Given the description of an element on the screen output the (x, y) to click on. 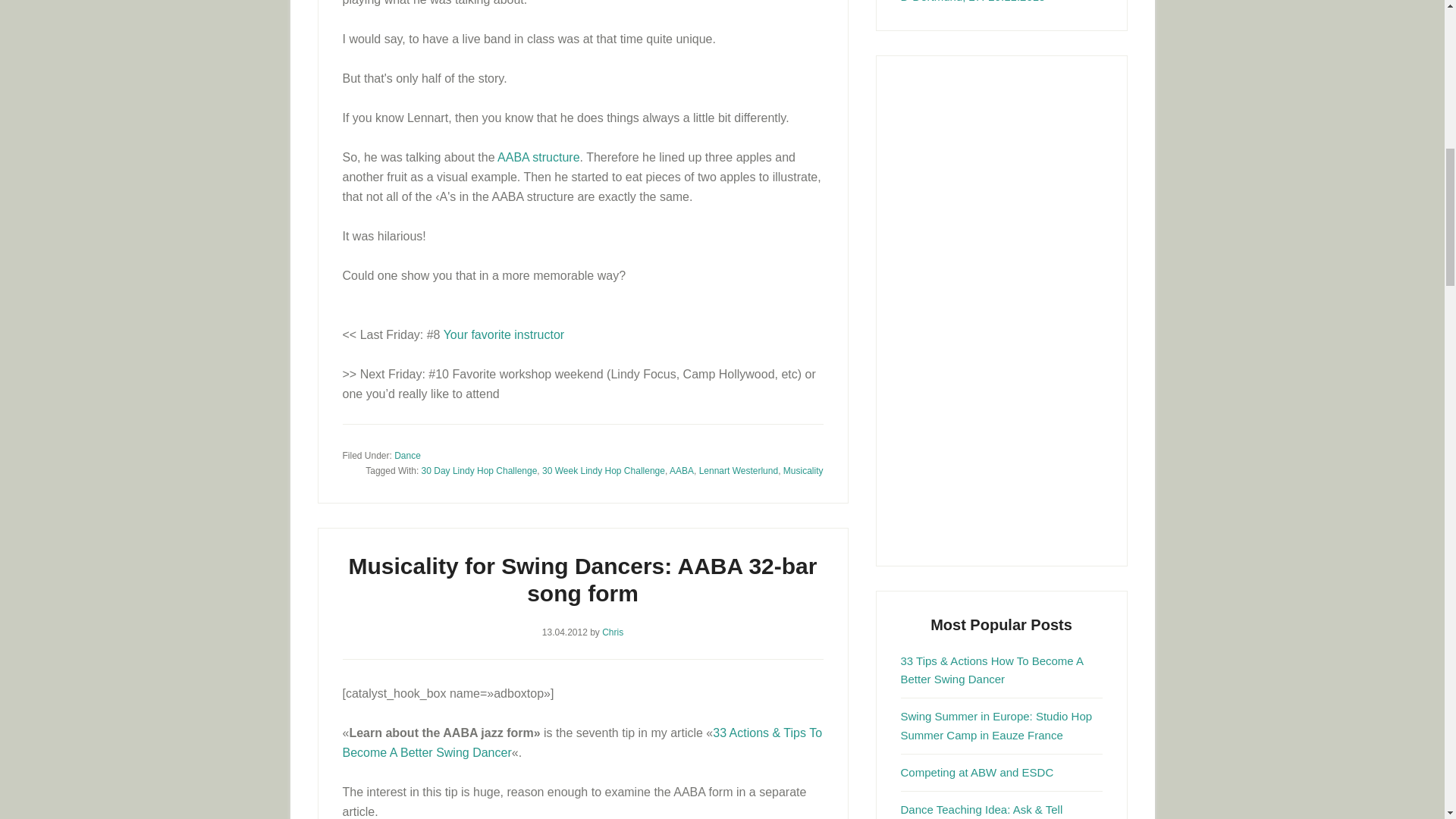
Dance (407, 455)
AABA structure (538, 156)
30 Week Lindy Hop Challenge (603, 470)
Competing at ABW and ESDC (977, 771)
Musicality for Swing Dancers: AABA 32-bar song form (538, 156)
30 Week Lindy Hop Challenge: Your Favorite Instructor (504, 334)
Chris (612, 632)
Musicality (803, 470)
Musicality for Swing Dancers: AABA 32-bar song form (582, 579)
